Given the description of an element on the screen output the (x, y) to click on. 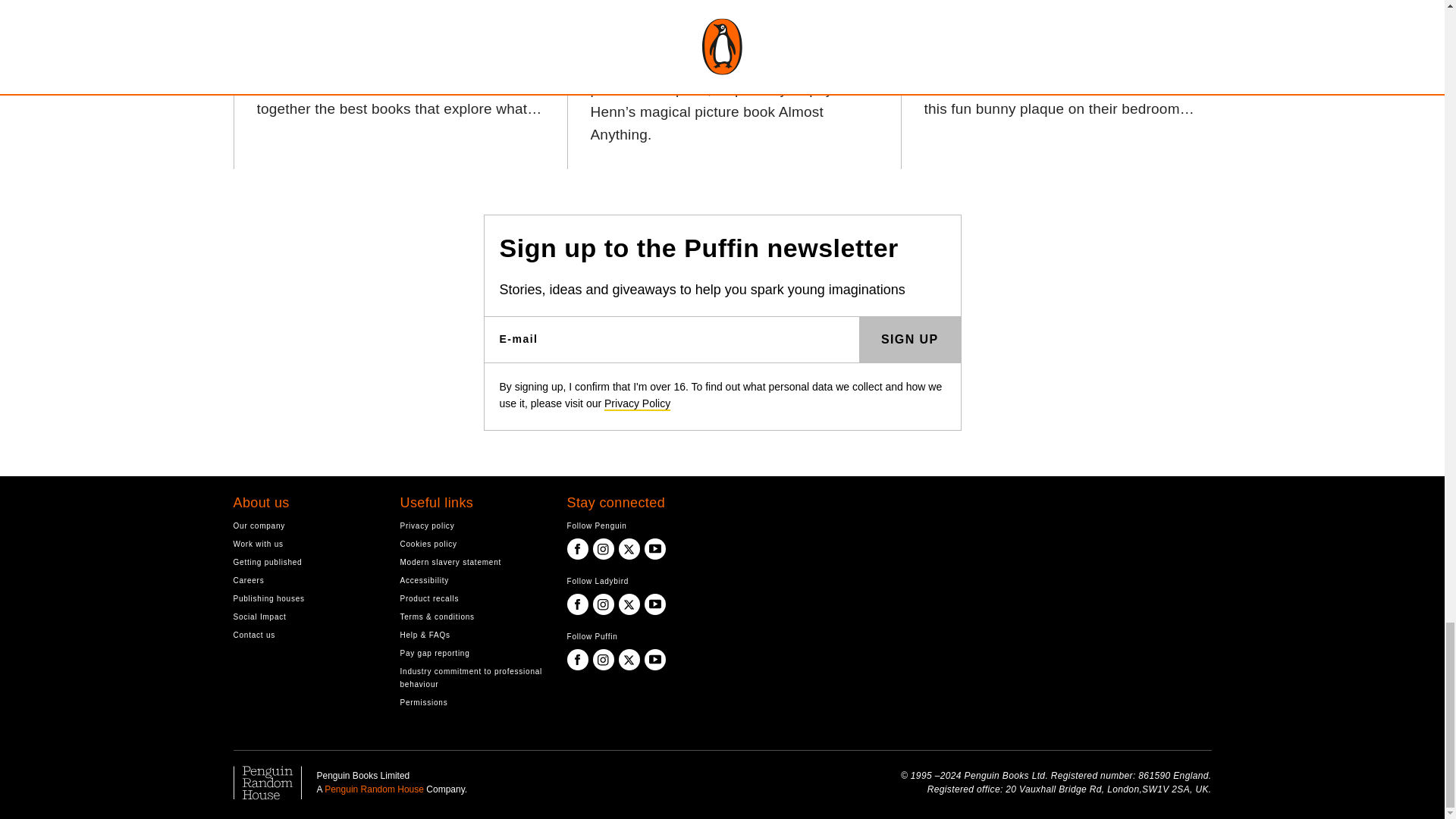
Careers (304, 580)
Cookies policy (472, 543)
Social Impact (304, 616)
Privacy policy (472, 525)
Pay gap reporting (472, 653)
SIGN UP (909, 339)
Industry commitment to professional behaviour (472, 678)
Publishing houses (304, 598)
Product recalls (472, 598)
Our company (304, 525)
Privacy Policy (636, 403)
Getting published (304, 562)
Contact us (304, 634)
Work with us (304, 543)
Modern slavery statement (472, 562)
